Given the description of an element on the screen output the (x, y) to click on. 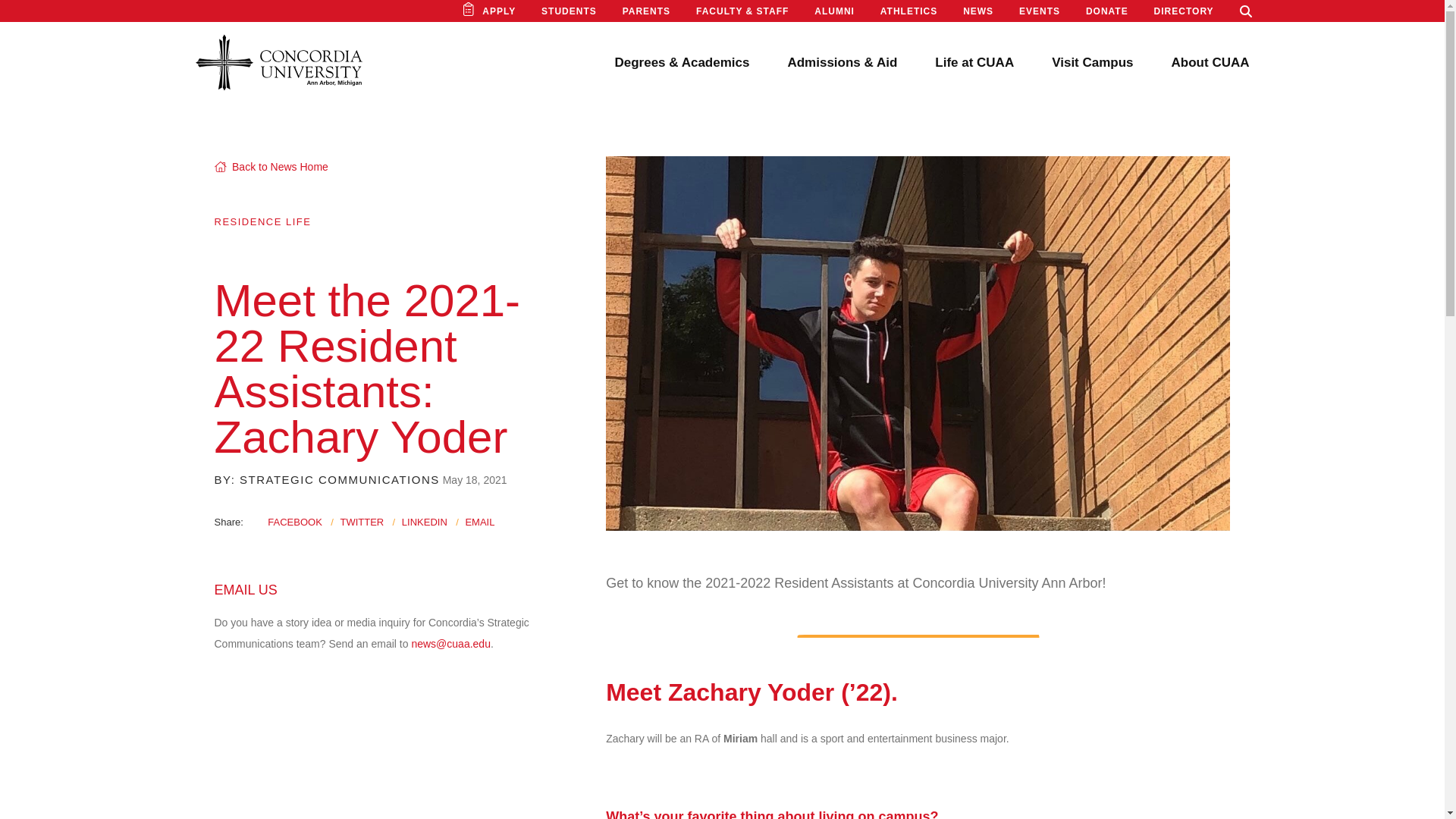
EVENTS (1039, 11)
Visit Campus (1091, 62)
NEWS (977, 11)
FACEBOOK (294, 521)
PARENTS (646, 11)
ATHLETICS (908, 11)
EMAIL (479, 521)
TWITTER (361, 521)
BY: STRATEGIC COMMUNICATIONS (326, 479)
Life at CUAA (973, 62)
